Given the description of an element on the screen output the (x, y) to click on. 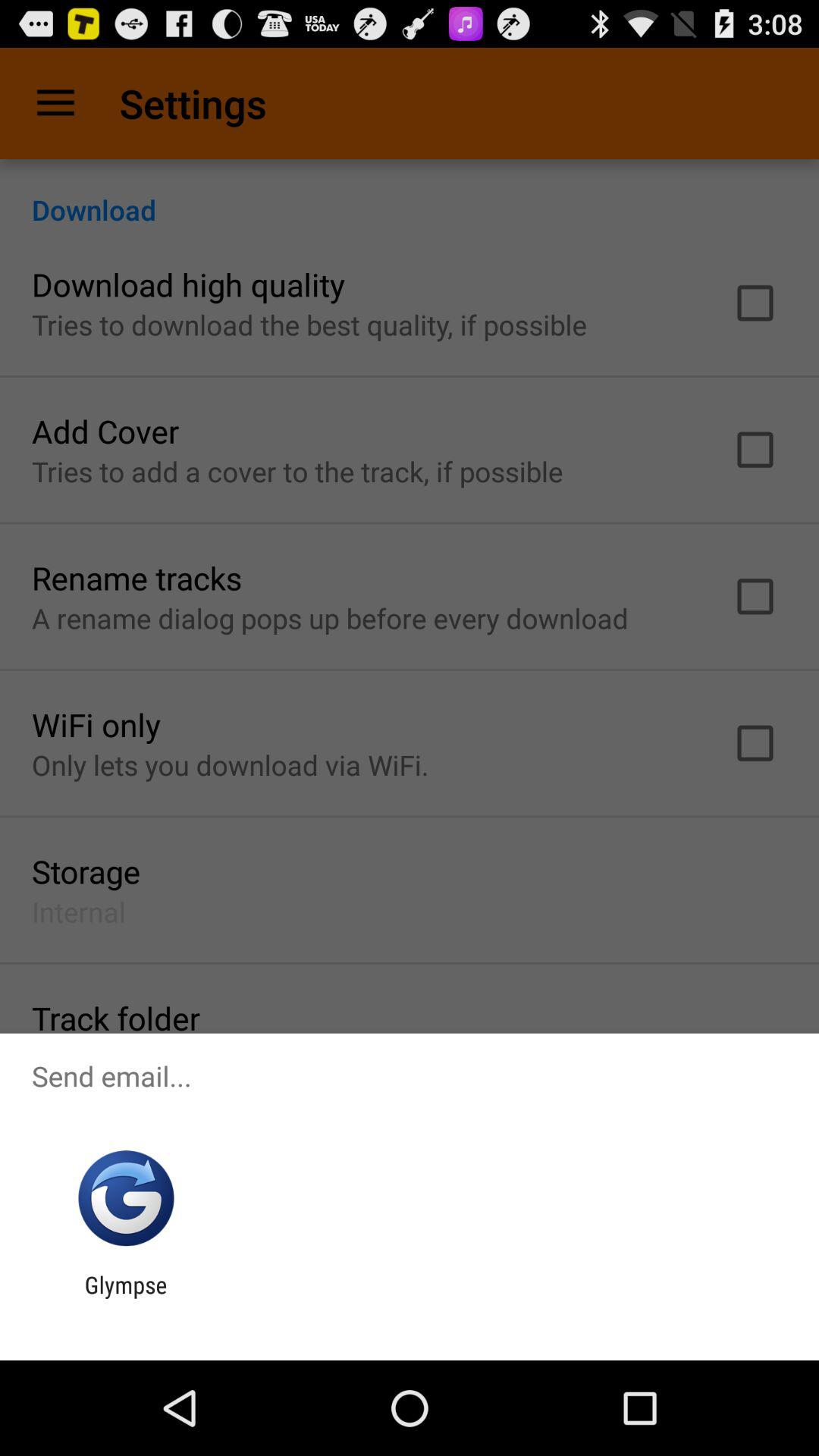
turn on app below send email... (126, 1198)
